Given the description of an element on the screen output the (x, y) to click on. 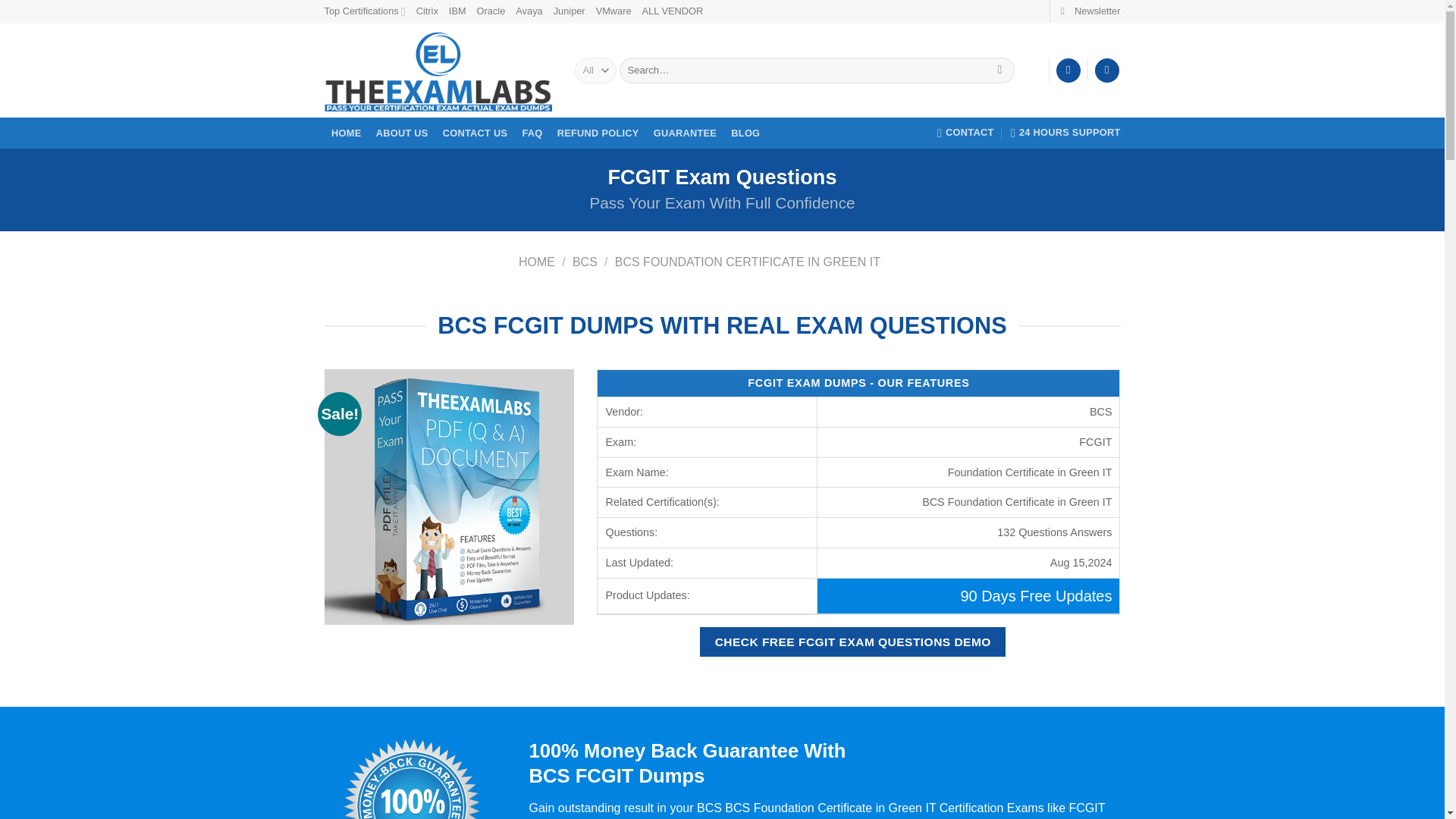
Cart (1106, 70)
Top Certifications (365, 11)
Avaya (528, 11)
Oracle (491, 11)
ALL VENDOR (672, 11)
24 Hours SUPPORT  (1065, 132)
VMware (613, 11)
Juniper (569, 11)
Citrix (427, 11)
Newsletter (1090, 11)
